Given the description of an element on the screen output the (x, y) to click on. 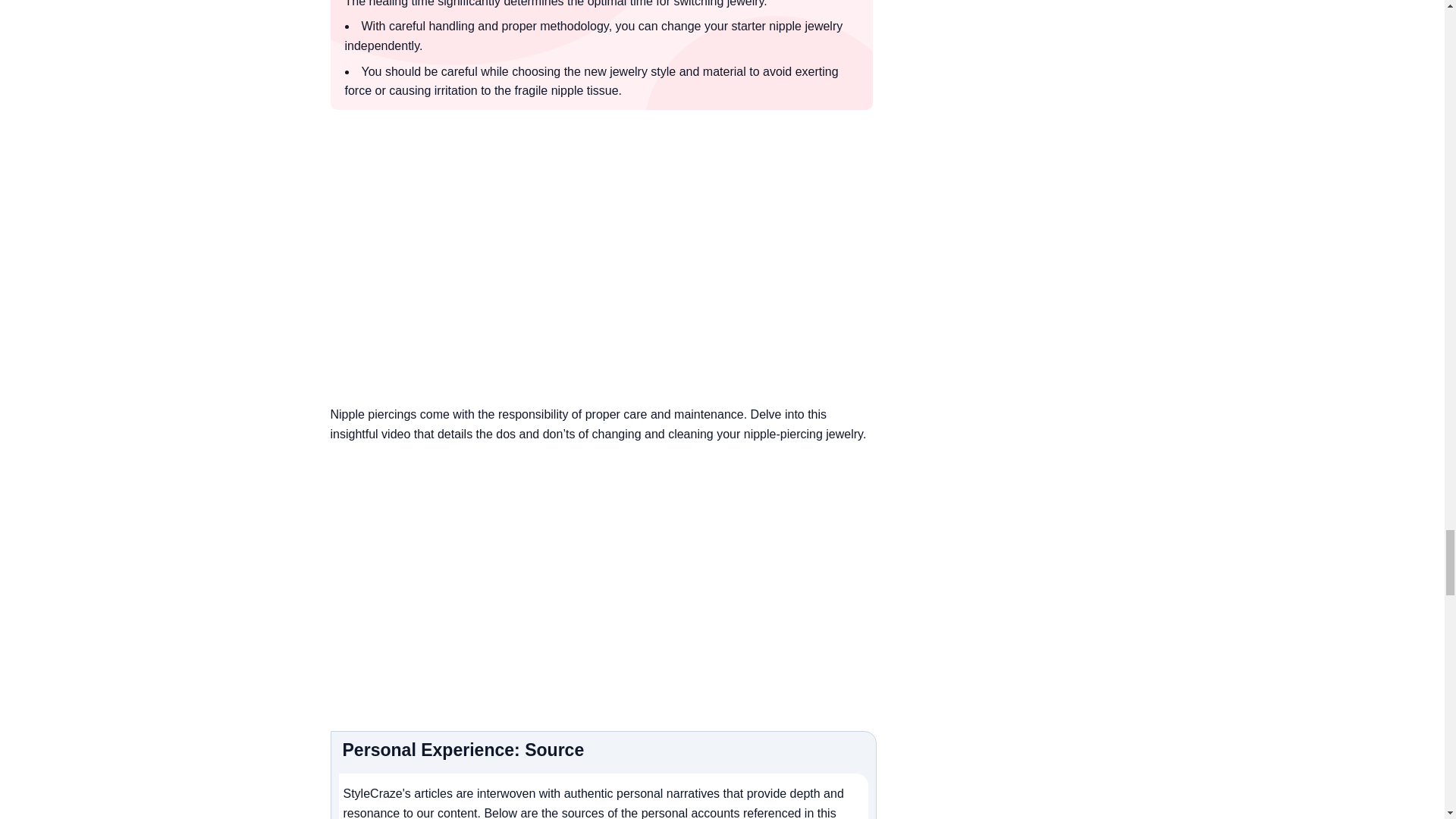
YouTube video player (603, 575)
YouTube video player (603, 267)
